Given the description of an element on the screen output the (x, y) to click on. 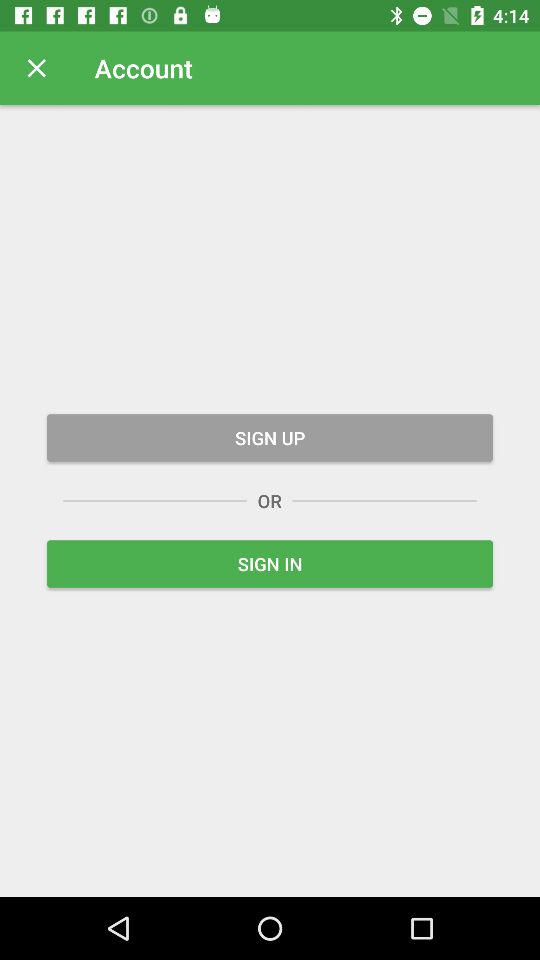
open the sign in item (269, 563)
